Given the description of an element on the screen output the (x, y) to click on. 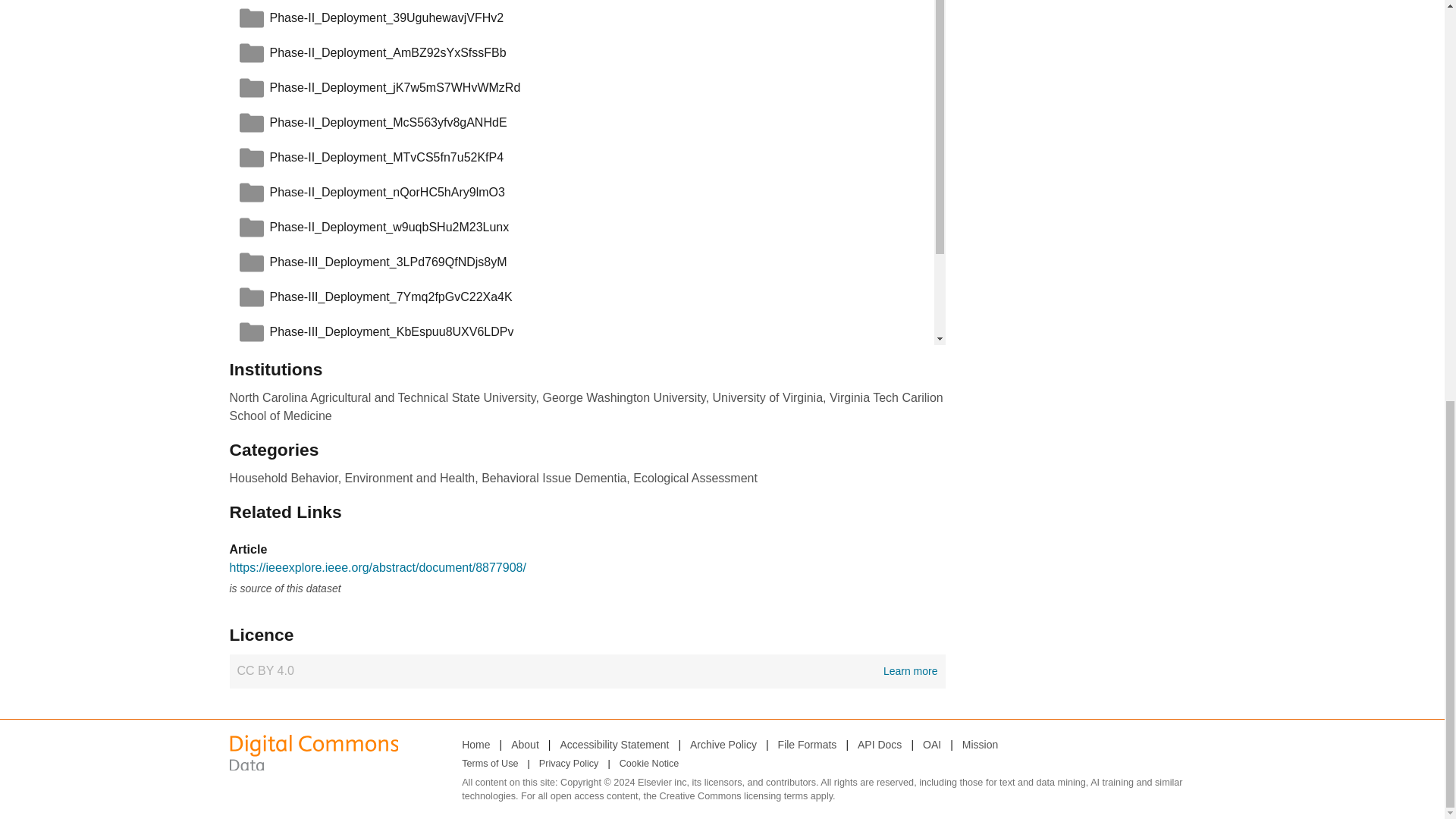
File Formats (807, 743)
OAI (931, 743)
Archive Policy (723, 743)
Accessibility Statement (613, 743)
readme.txt (295, 436)
Home (475, 743)
About (586, 670)
API Docs (283, 436)
